Given the description of an element on the screen output the (x, y) to click on. 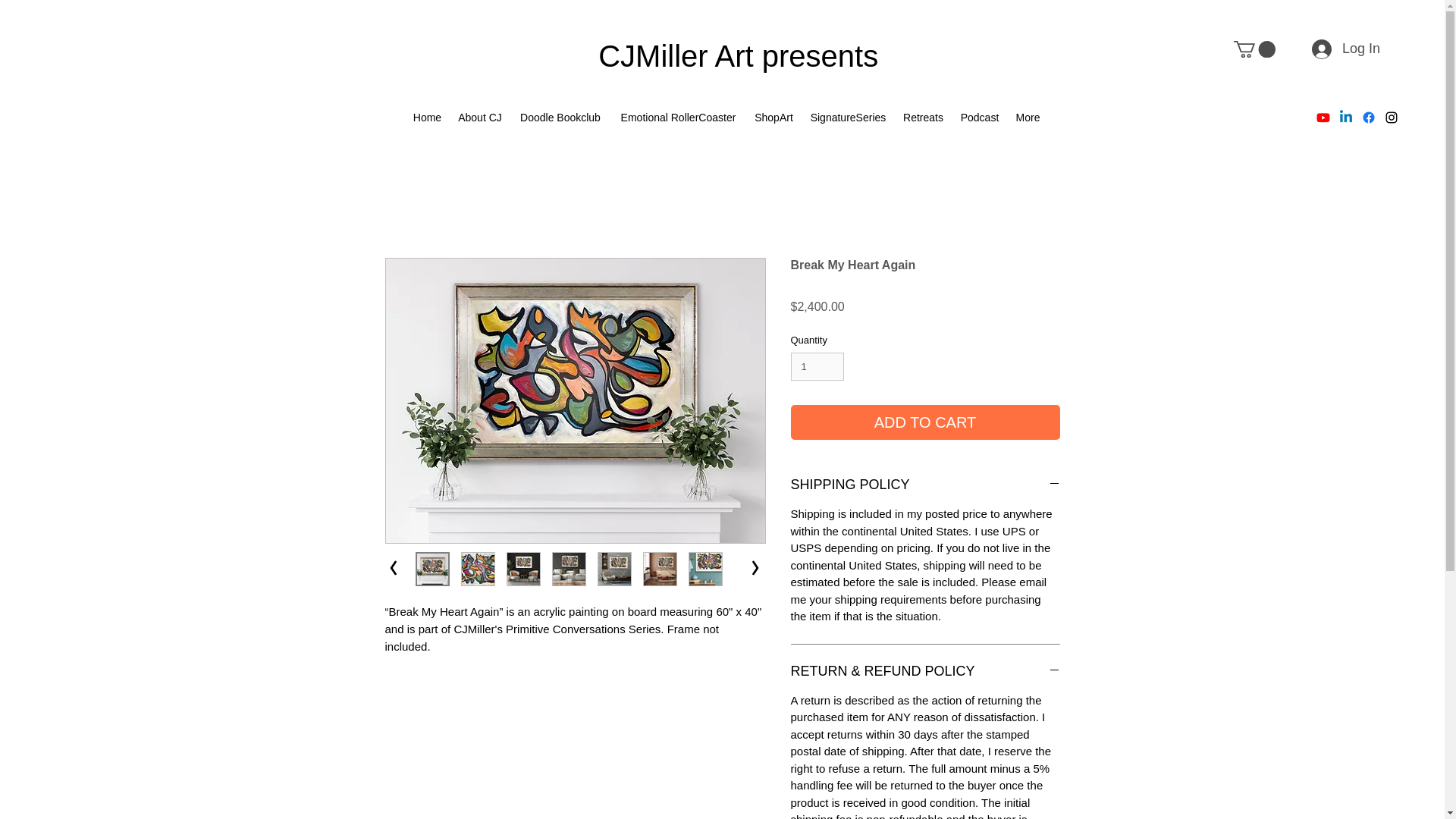
Retreats (923, 117)
Podcast (979, 117)
Home (426, 117)
Log In (1345, 49)
1 (817, 366)
ShopArt (773, 117)
SignatureSeries (848, 117)
ADD TO CART (924, 421)
SHIPPING POLICY (924, 484)
Emotional RollerCoaster (677, 117)
About CJ (480, 117)
Doodle Bookclub (560, 117)
